Given the description of an element on the screen output the (x, y) to click on. 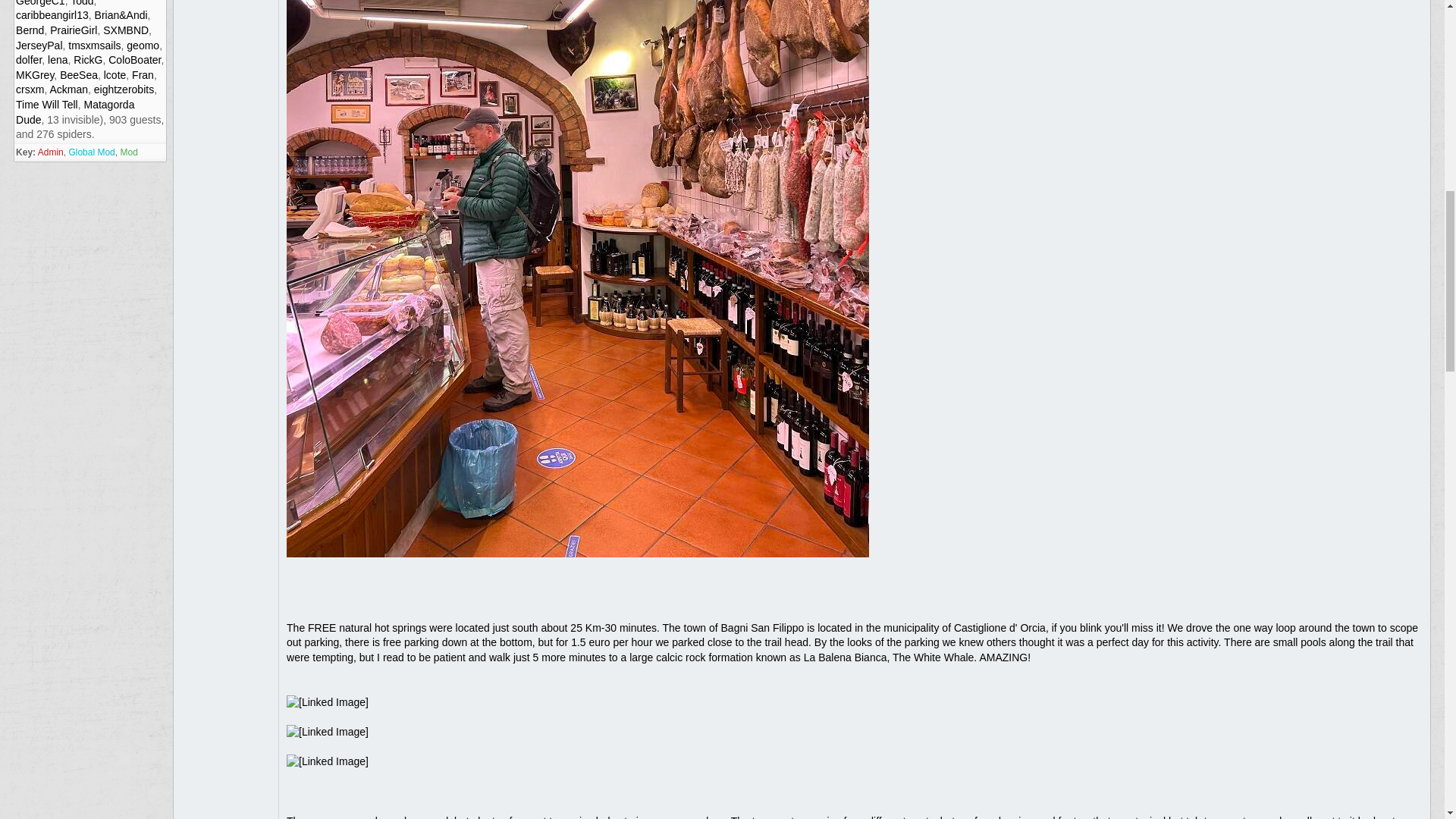
User was last active . (39, 45)
User was last active . (121, 15)
User was last active . (81, 3)
User was last active . (29, 30)
User was last active . (34, 74)
Todd (81, 3)
User was last active . (133, 60)
User was last active . (94, 45)
User was last active . (52, 15)
User was last active . (78, 74)
caribbeangirl13 (52, 15)
User was last active . (29, 60)
User was last active . (73, 30)
PrairieGirl (73, 30)
User was last active . (142, 45)
